Given the description of an element on the screen output the (x, y) to click on. 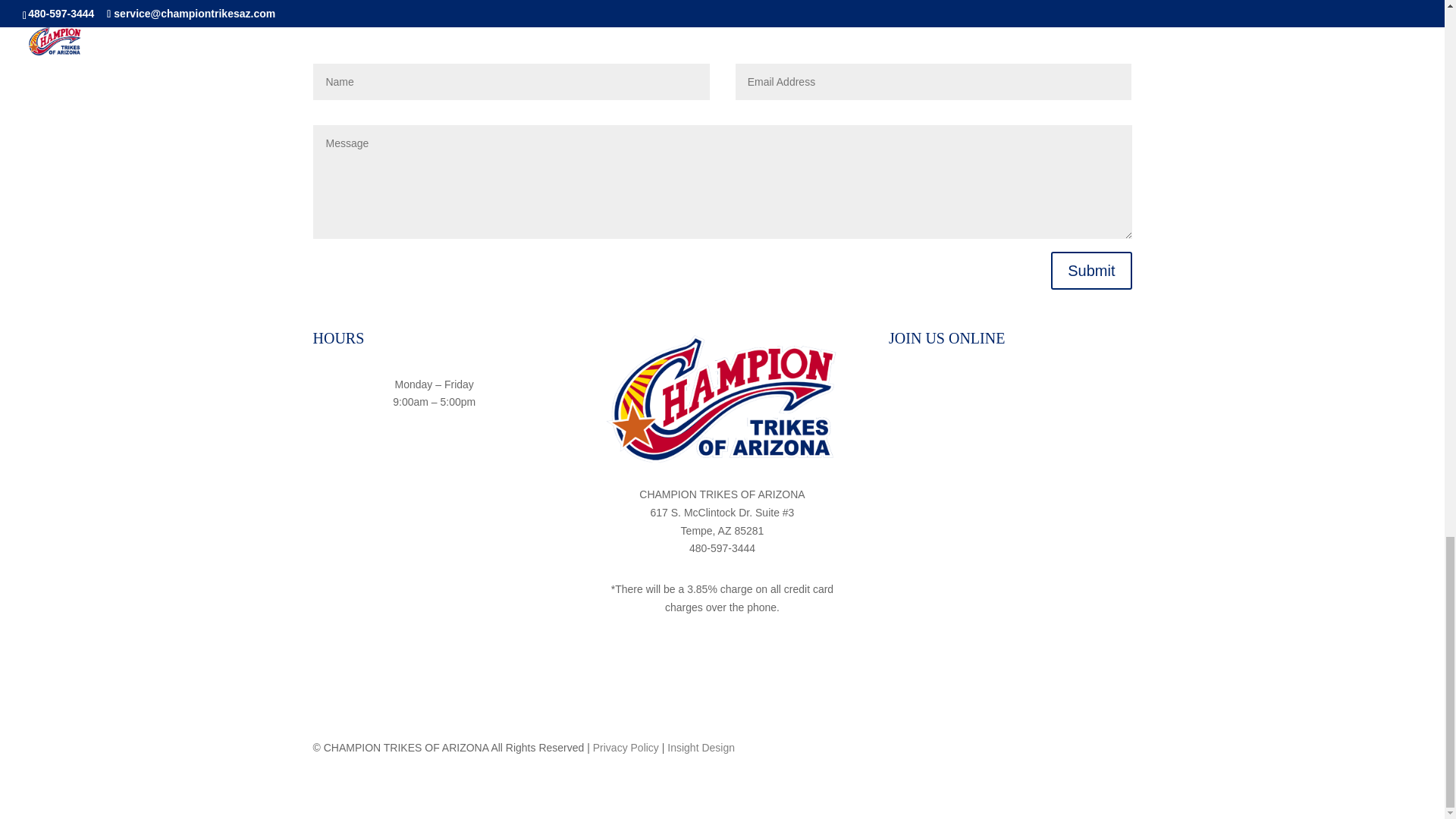
Follow on Facebook (979, 387)
Premium WordPress Themes (700, 747)
Follow on Twitter (1039, 387)
Only letters allowed. (511, 81)
Follow on Instagram (1009, 387)
Submit (1091, 270)
Insight Design (700, 747)
